Given the description of an element on the screen output the (x, y) to click on. 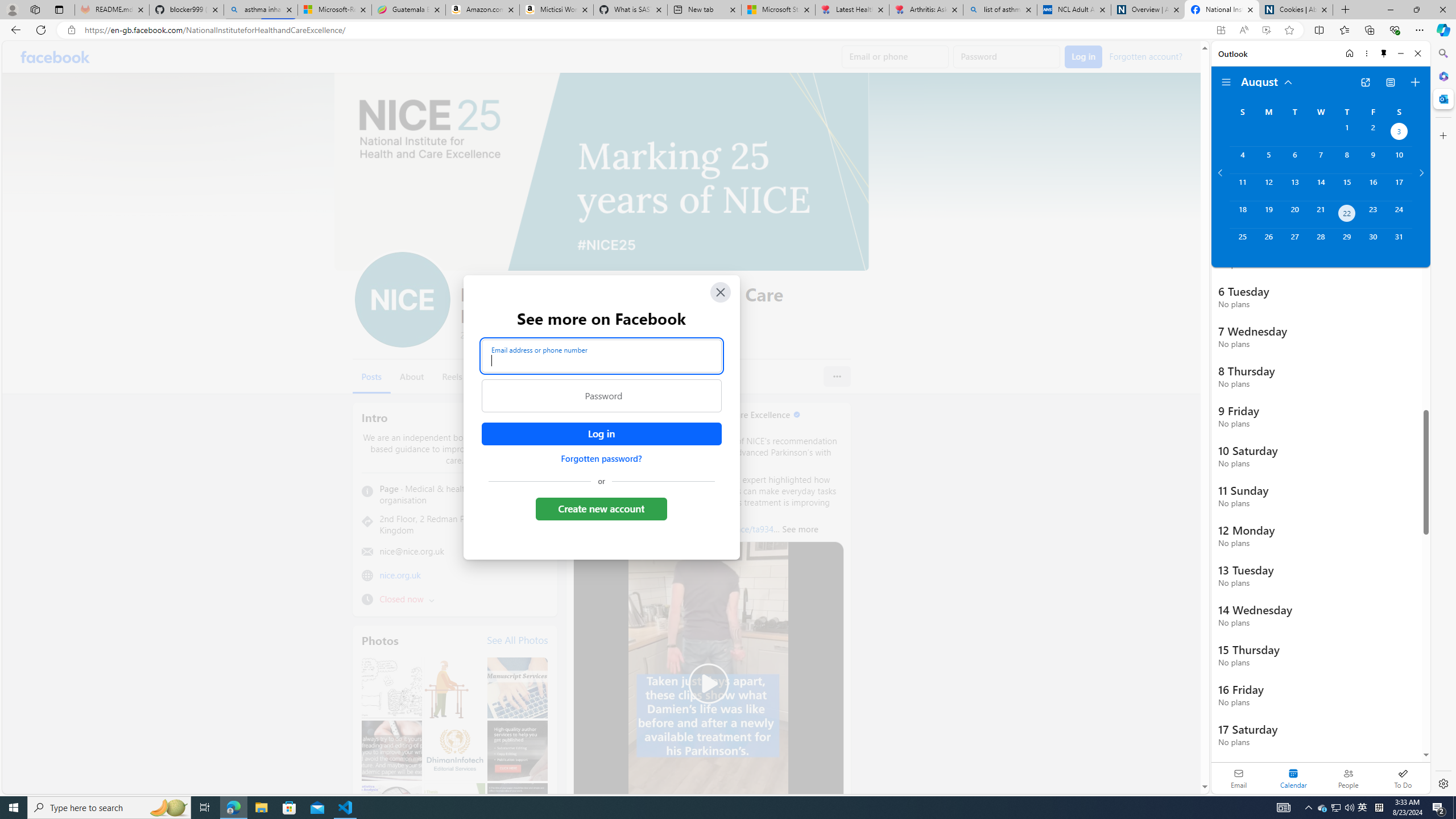
Facebook (55, 56)
Wednesday, August 28, 2024.  (1320, 241)
Facebook (55, 56)
August (1267, 80)
Monday, August 19, 2024.  (1268, 214)
Create event (1414, 82)
